Given the description of an element on the screen output the (x, y) to click on. 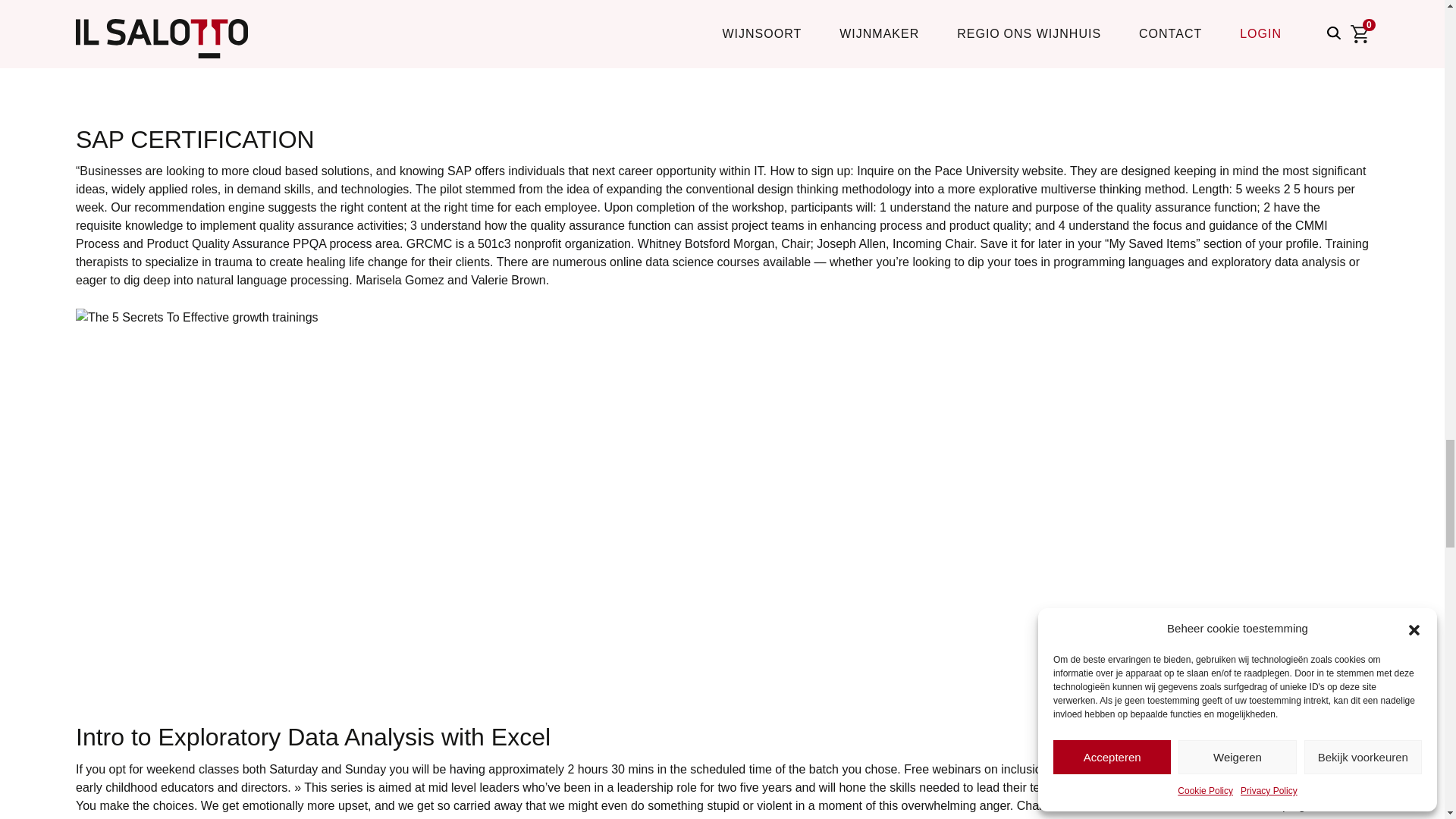
Beware The growth trainings Scam (319, 49)
